Given the description of an element on the screen output the (x, y) to click on. 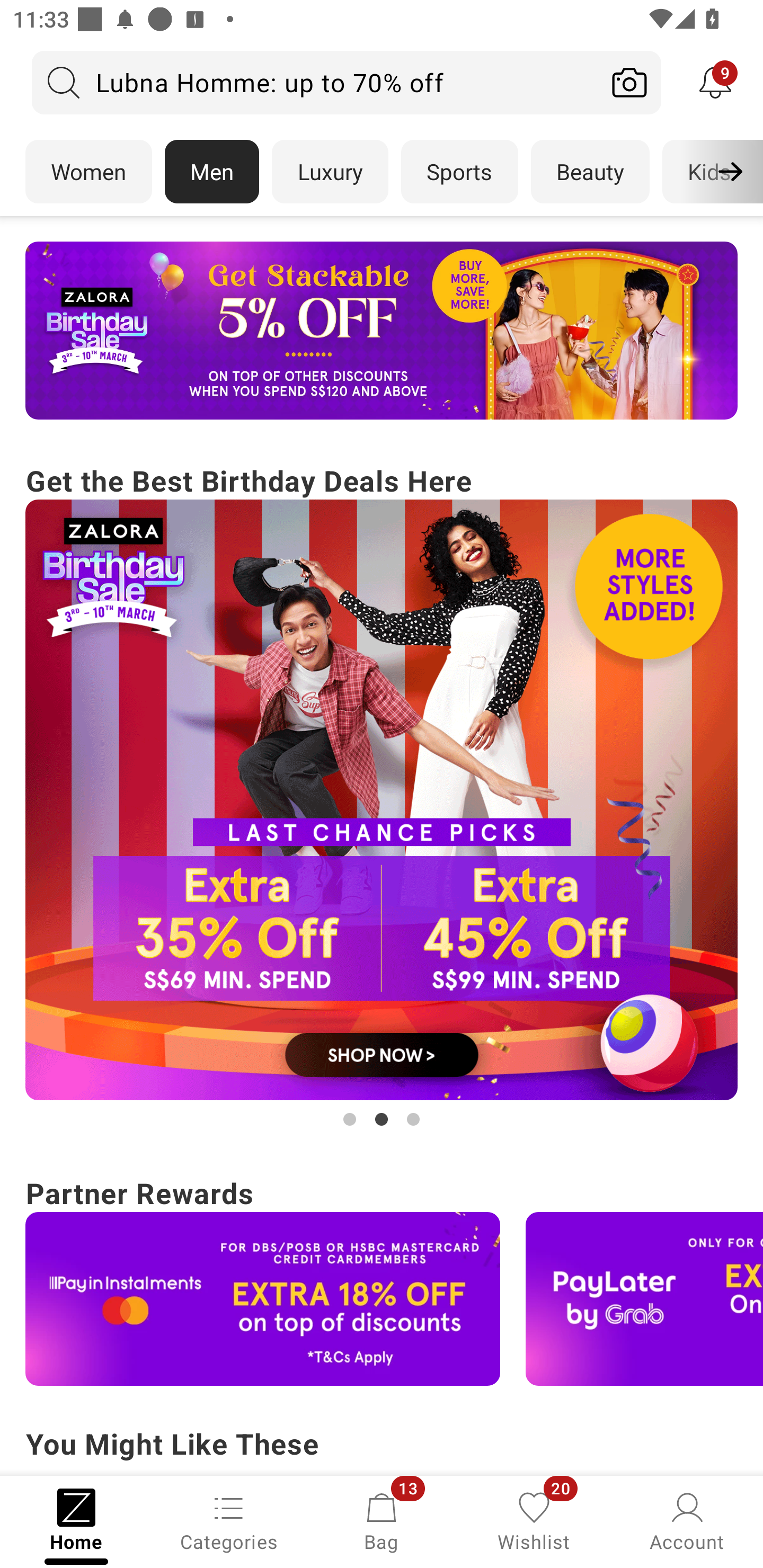
Lubna Homme: up to 70% off (314, 82)
Women (88, 171)
Men (211, 171)
Luxury (329, 171)
Sports (459, 171)
Beauty (590, 171)
Campaign banner (381, 330)
Get the Best Birthday Deals Here Campaign banner (381, 794)
Campaign banner (381, 800)
Partner Rewards Campaign banner Campaign banner (381, 1277)
Campaign banner (262, 1299)
Categories (228, 1519)
Bag, 13 new notifications Bag (381, 1519)
Wishlist, 20 new notifications Wishlist (533, 1519)
Account (686, 1519)
